Given the description of an element on the screen output the (x, y) to click on. 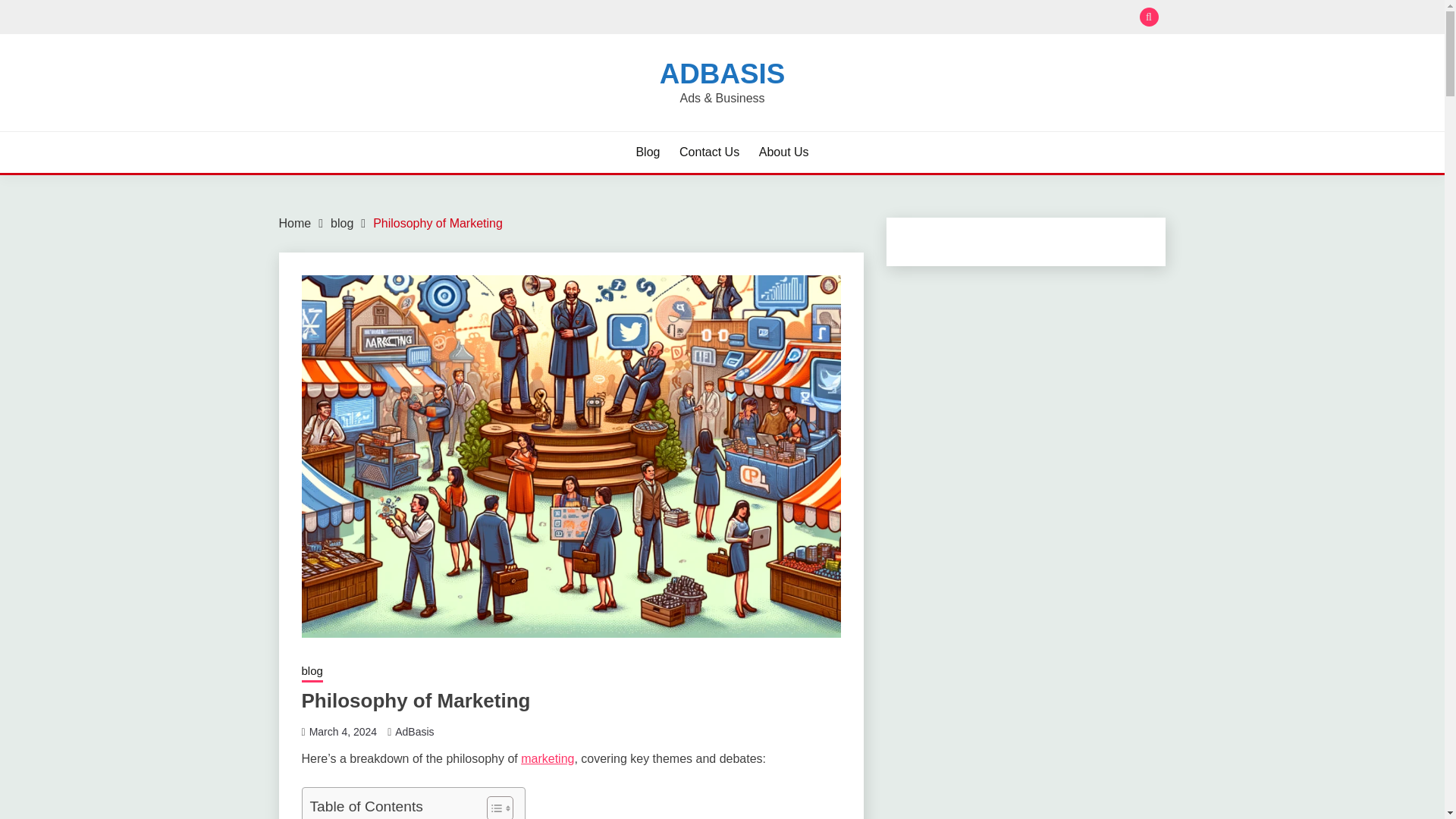
March 4, 2024 (342, 731)
Home (295, 223)
blog (341, 223)
AdBasis (413, 731)
About Us (783, 152)
ADBASIS (722, 73)
blog (312, 672)
Blog (646, 152)
Philosophy of Marketing (437, 223)
Contact Us (709, 152)
